Given the description of an element on the screen output the (x, y) to click on. 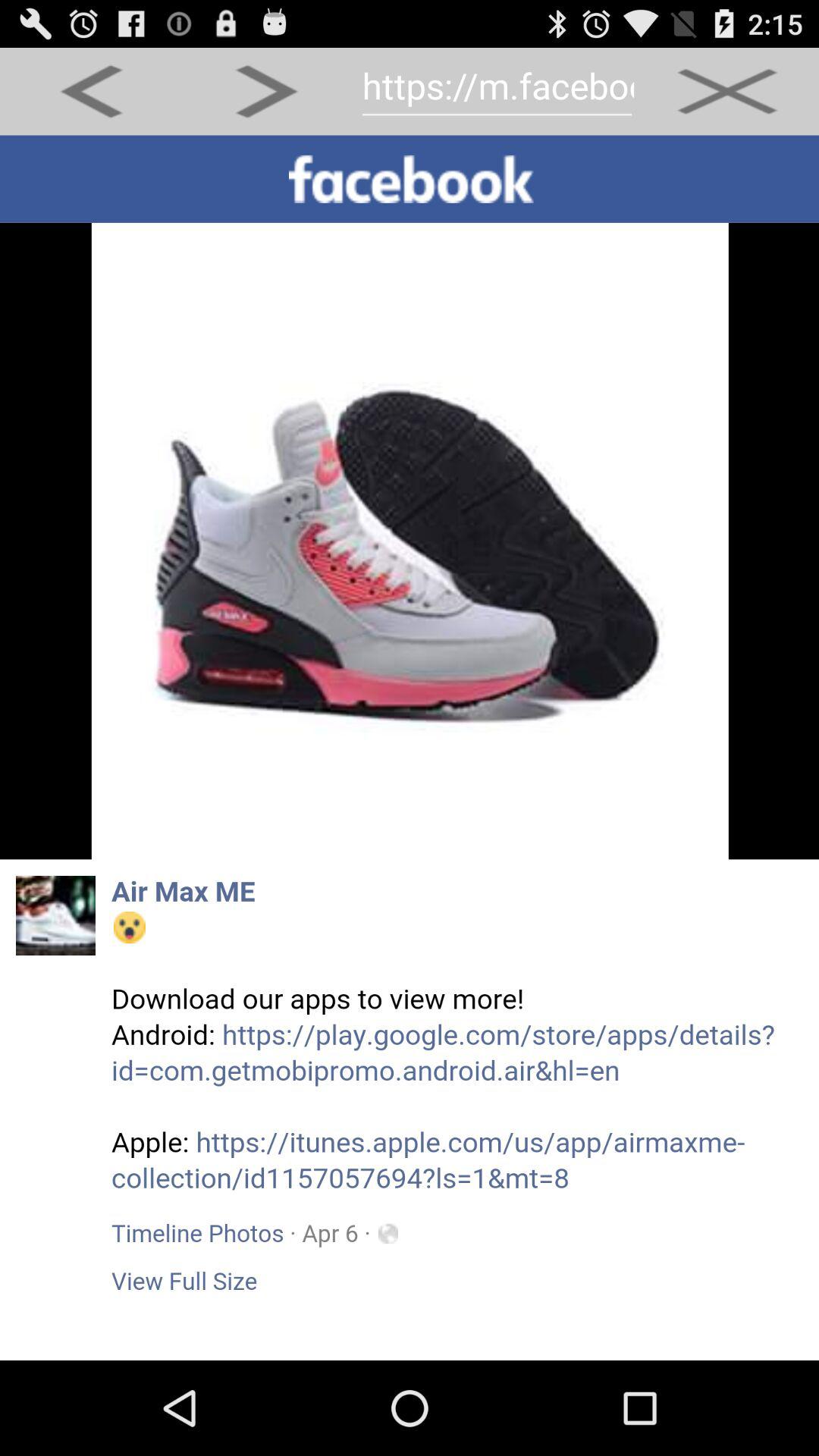
main image screen (409, 747)
